Given the description of an element on the screen output the (x, y) to click on. 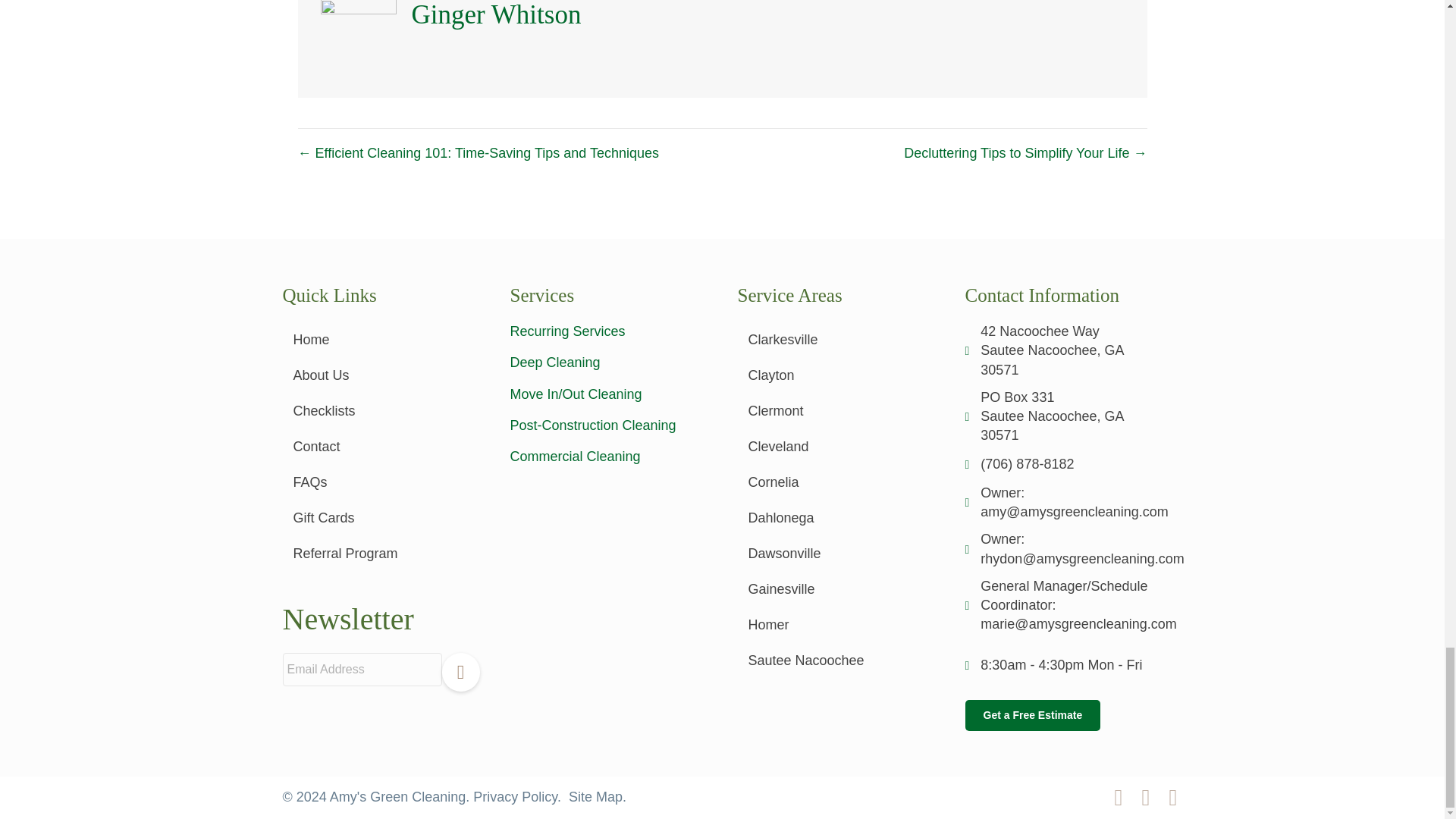
Referral Program (380, 553)
Clarkesville (835, 339)
Contact (380, 446)
FAQs (380, 482)
Home (380, 339)
About Us (380, 375)
Gift Cards (380, 517)
Checklists (380, 410)
Post-Construction Cleaning (592, 425)
Recurring Services (566, 331)
Deep Cleaning (554, 362)
Commercial Cleaning (574, 456)
